Given the description of an element on the screen output the (x, y) to click on. 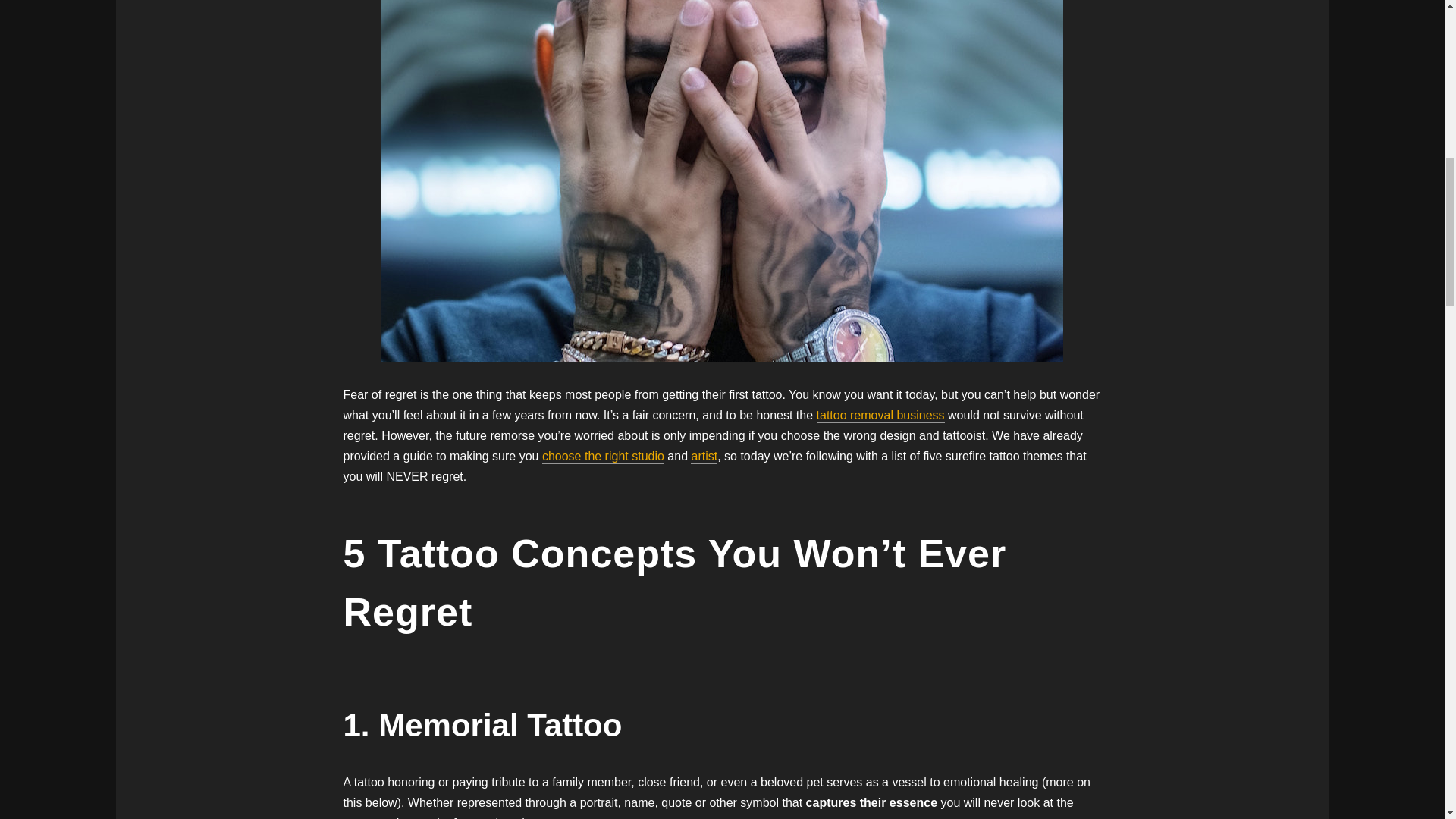
artist (703, 456)
tattoo removal business (880, 415)
choose the right studio (602, 456)
